Given the description of an element on the screen output the (x, y) to click on. 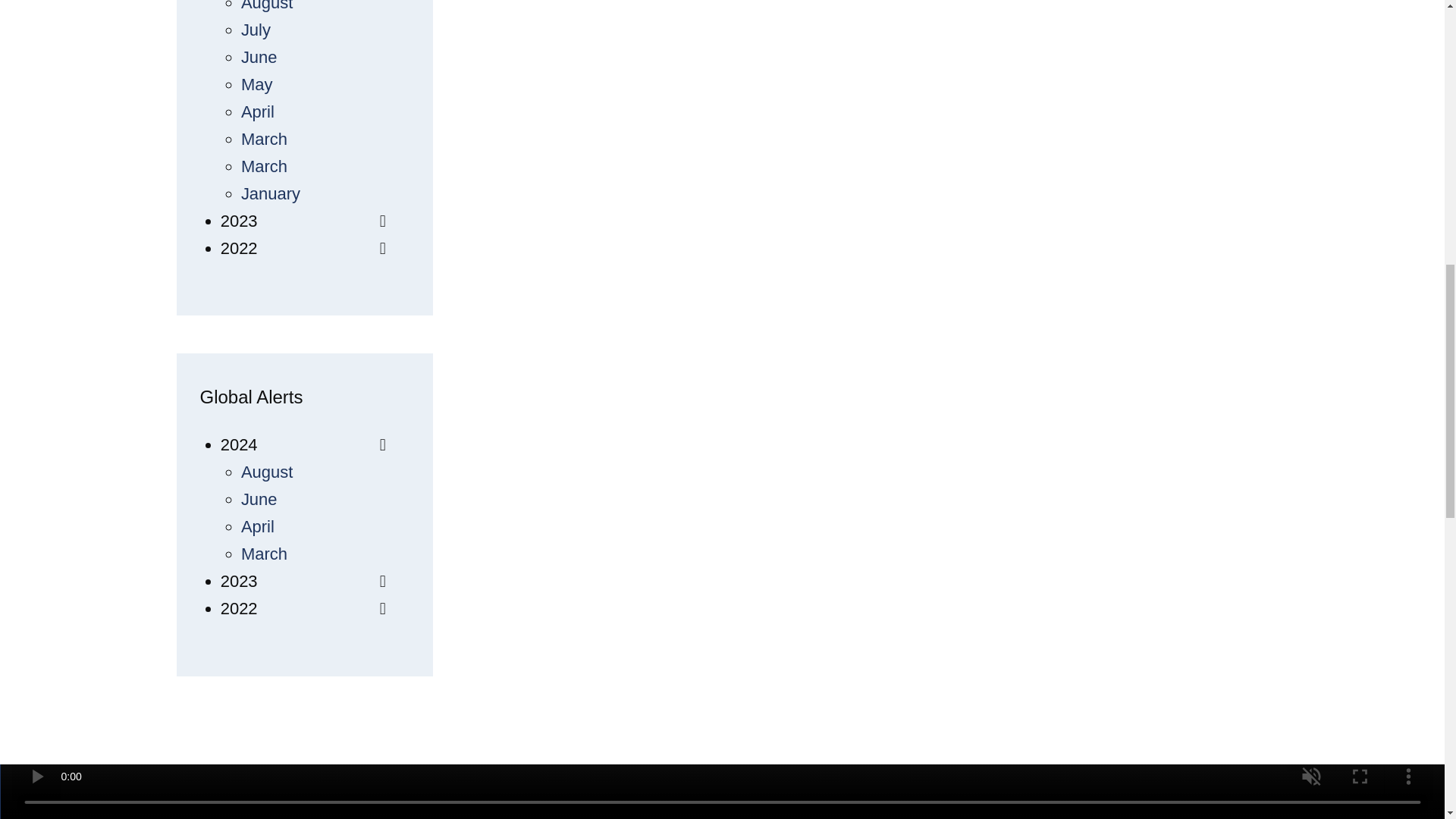
August (266, 6)
March (263, 166)
May (257, 84)
March (263, 138)
April (258, 111)
July (255, 29)
June (259, 56)
January (270, 193)
